Given the description of an element on the screen output the (x, y) to click on. 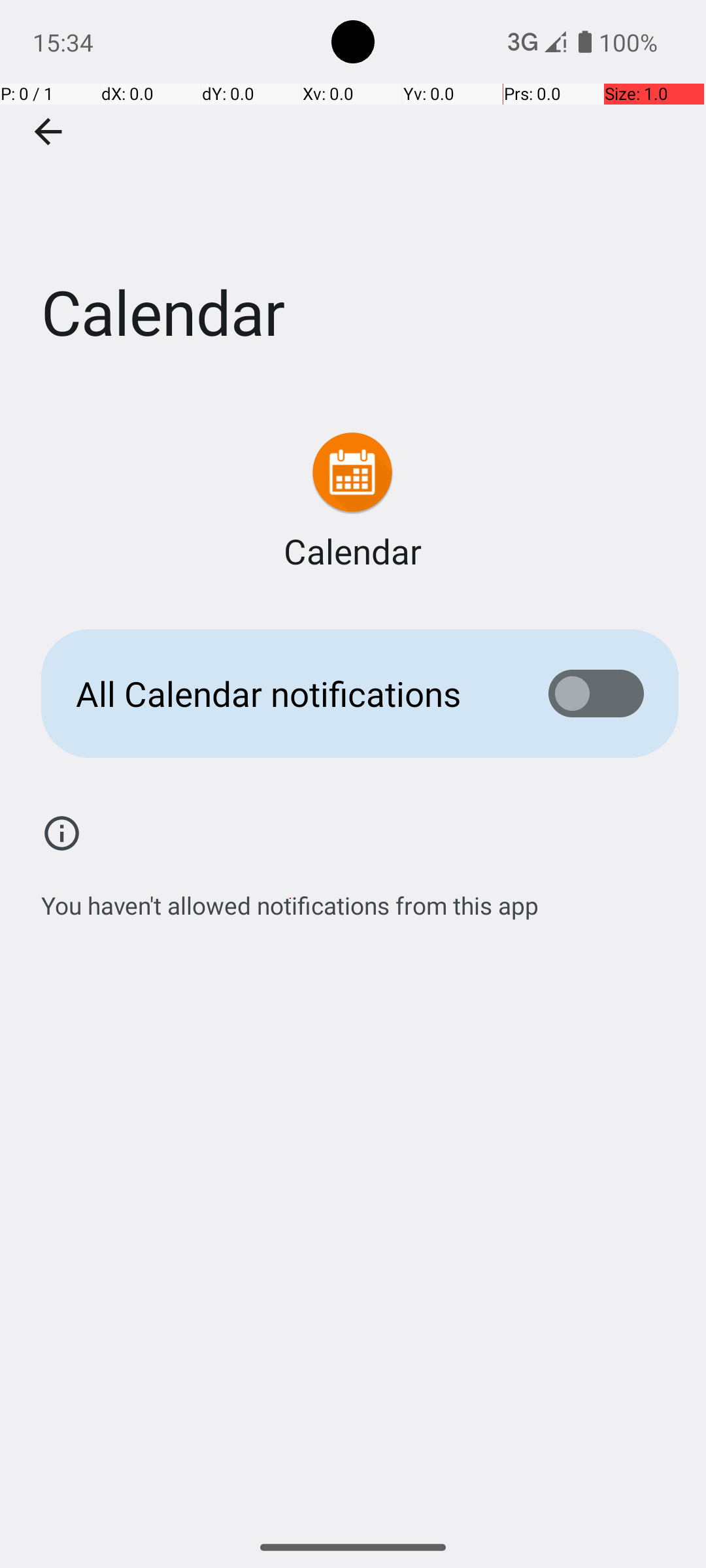
All Calendar notifications Element type: android.widget.TextView (291, 693)
You haven't allowed notifications from this app Element type: android.widget.TextView (290, 898)
